Given the description of an element on the screen output the (x, y) to click on. 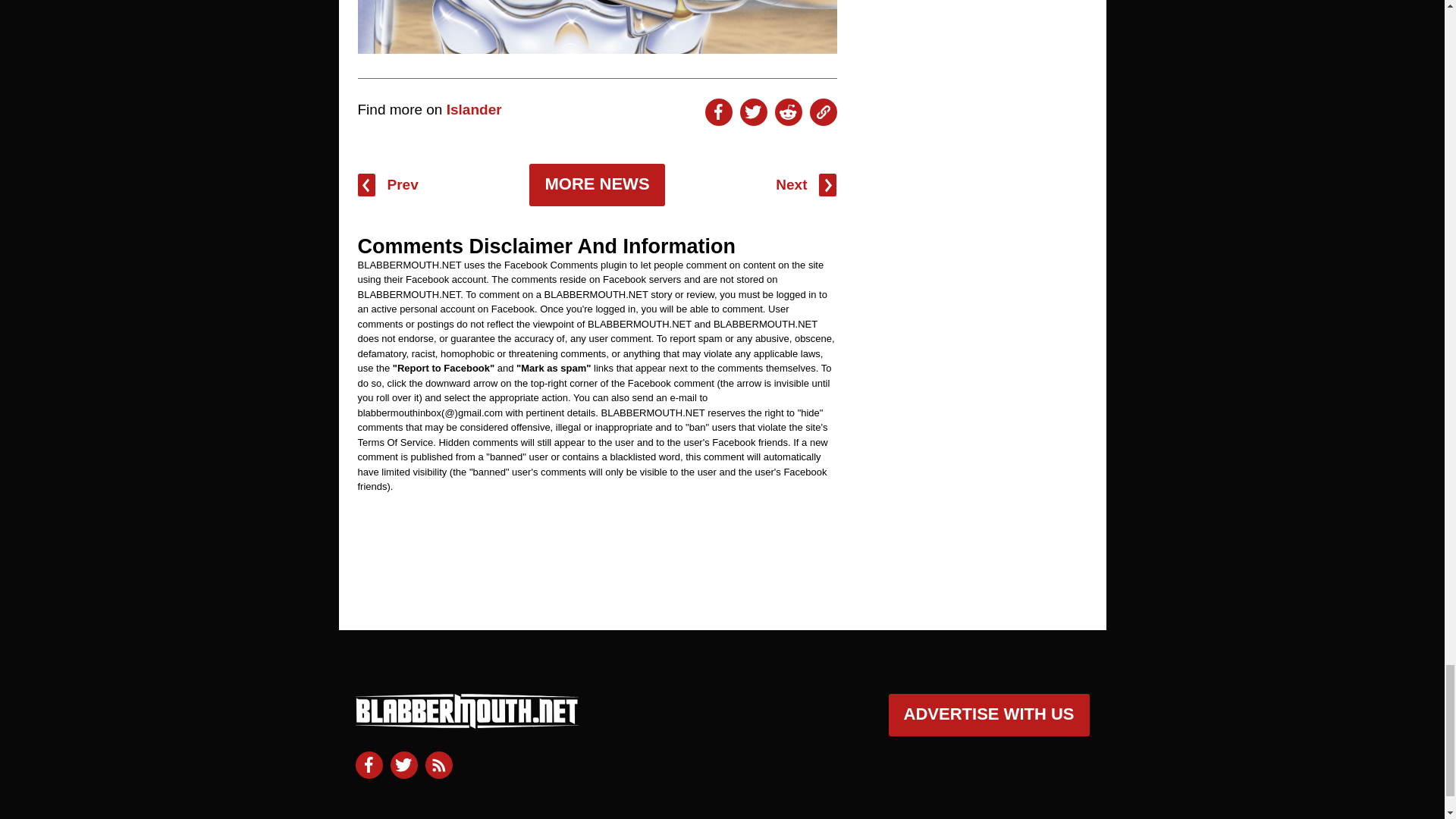
Share On Twitter (753, 112)
Prev (388, 184)
Share On Reddit (788, 112)
MORE NEWS (596, 184)
Next (805, 184)
blabbermouth (466, 722)
Share On Facebook (718, 112)
Copy To Clipboard (823, 112)
Islander (474, 109)
